Given the description of an element on the screen output the (x, y) to click on. 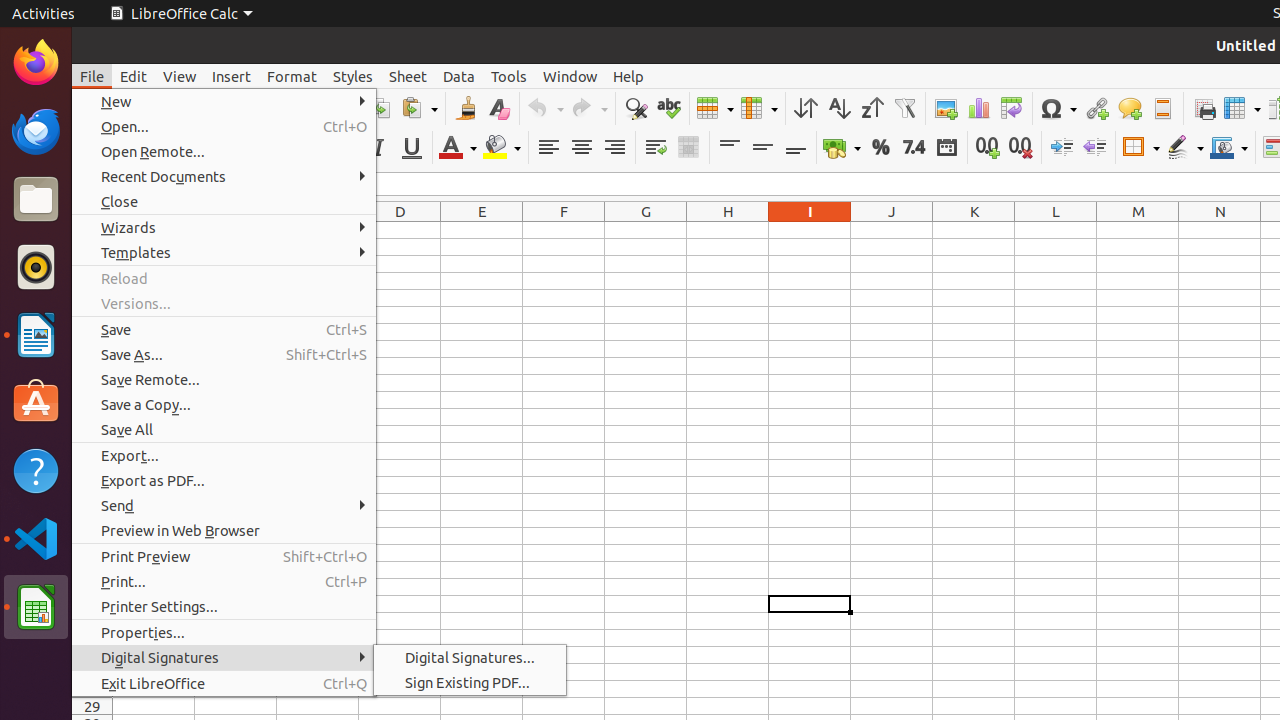
Center Vertically Element type: push-button (762, 147)
Format Element type: menu (292, 76)
Print Area Element type: push-button (1203, 108)
Hyperlink Element type: toggle-button (1096, 108)
